Given the description of an element on the screen output the (x, y) to click on. 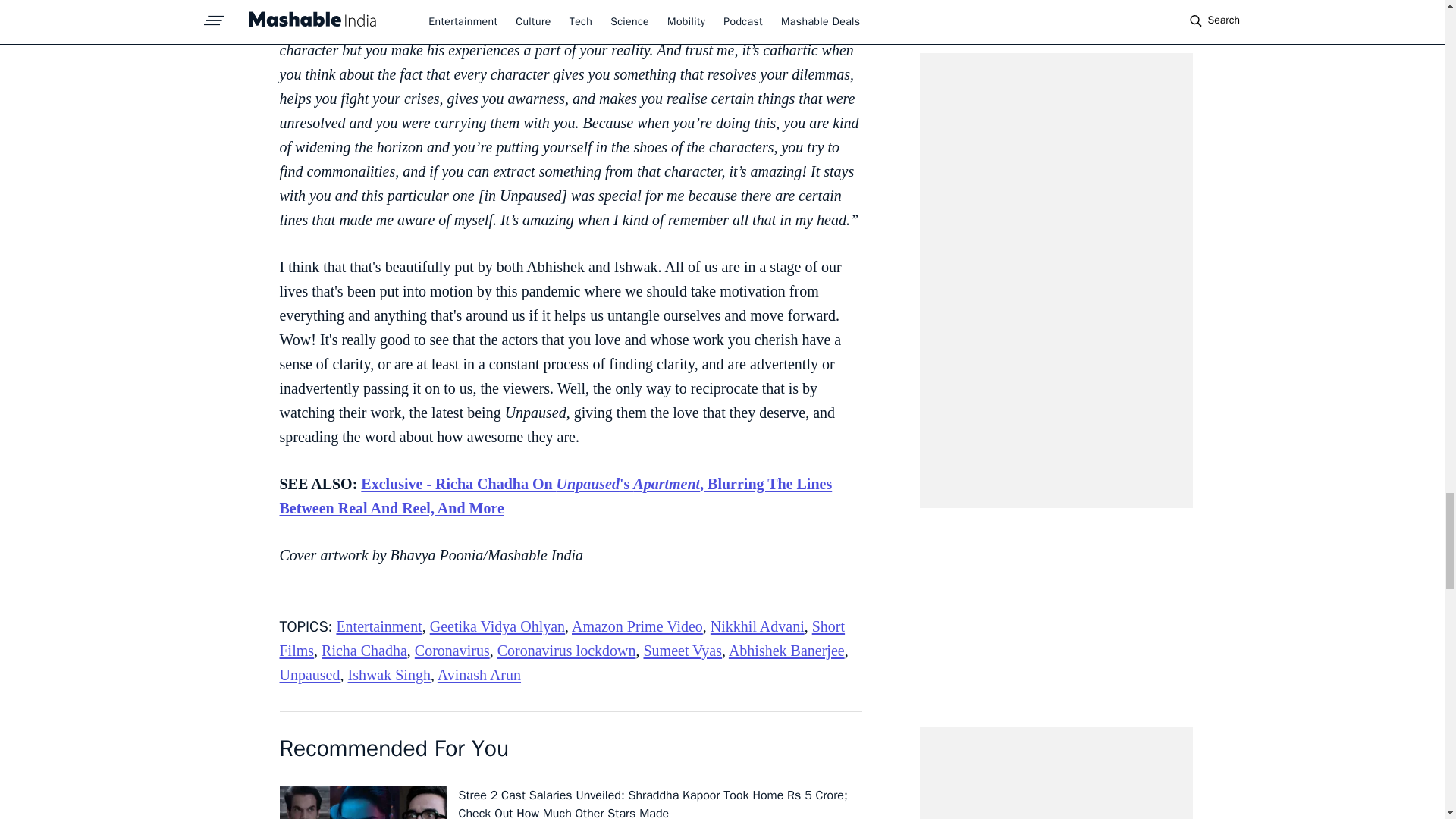
Nikkhil Advani (757, 626)
Short Films (561, 638)
Coronavirus (451, 650)
Ishwak Singh (388, 674)
Geetika Vidya Ohlyan (496, 626)
Entertainment (379, 626)
Avinash Arun (479, 674)
Amazon Prime Video (637, 626)
Unpaused (309, 674)
Richa Chadha (364, 650)
